Given the description of an element on the screen output the (x, y) to click on. 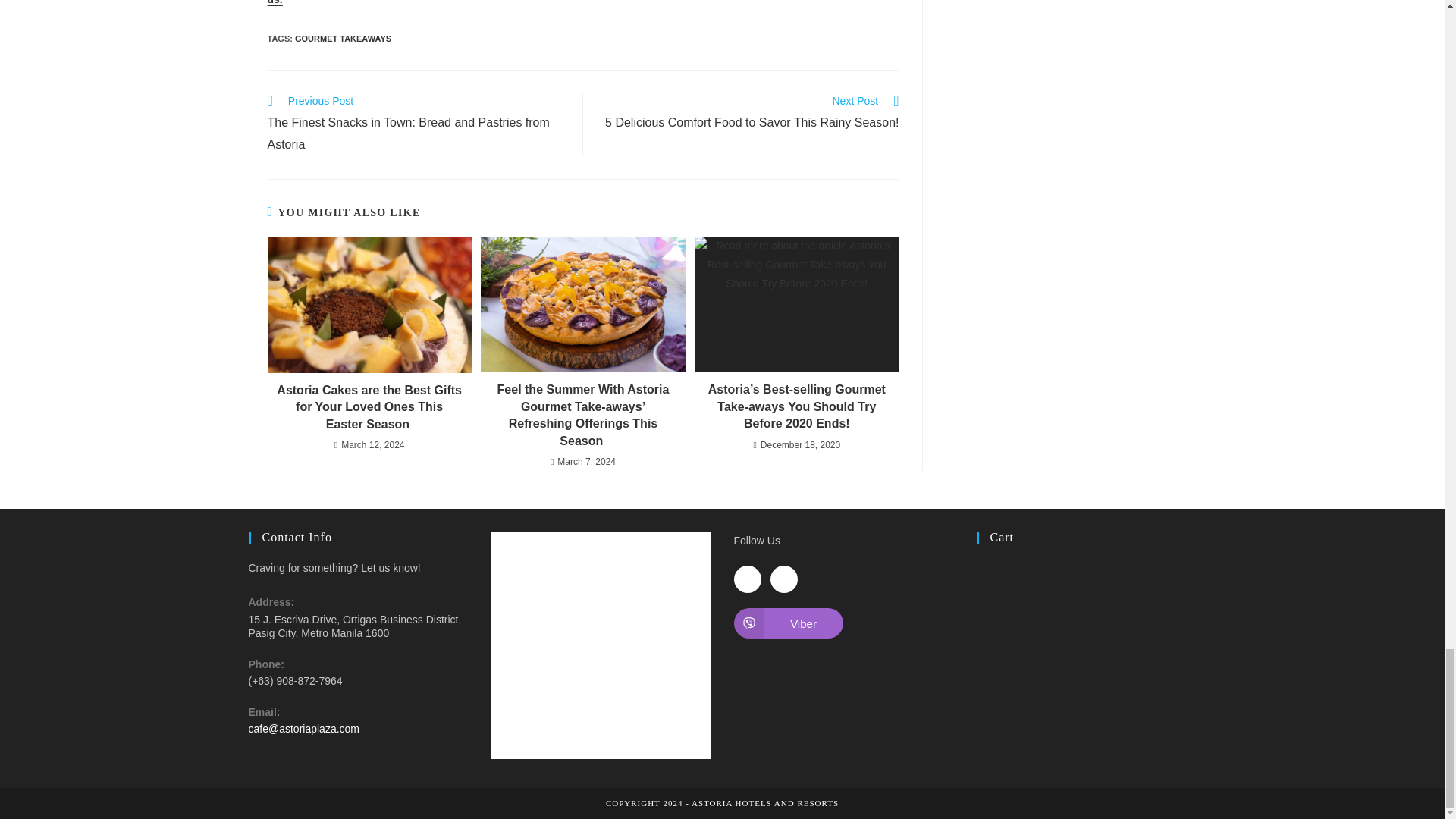
Share on Viber (788, 623)
GOURMET TAKEAWAYS (343, 38)
